Given the description of an element on the screen output the (x, y) to click on. 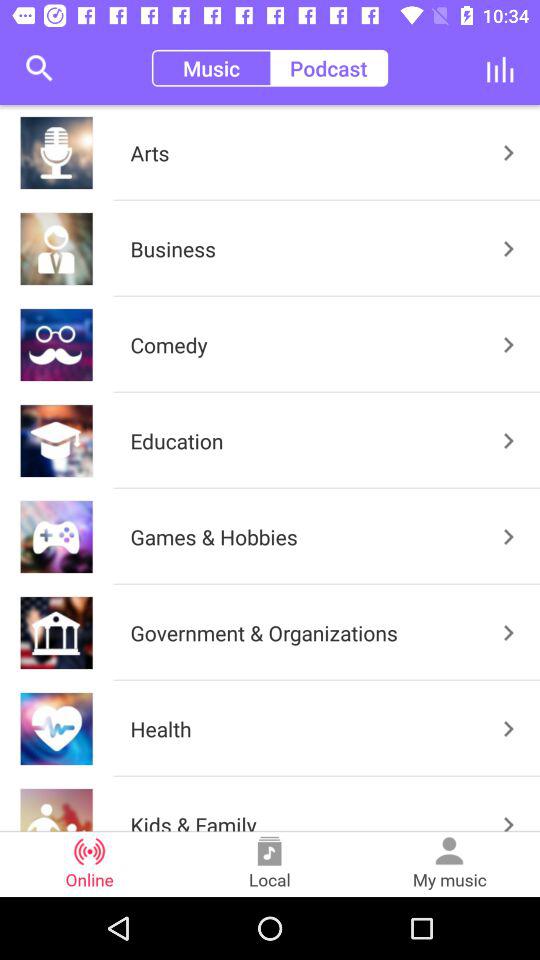
scroll until the local (270, 863)
